Given the description of an element on the screen output the (x, y) to click on. 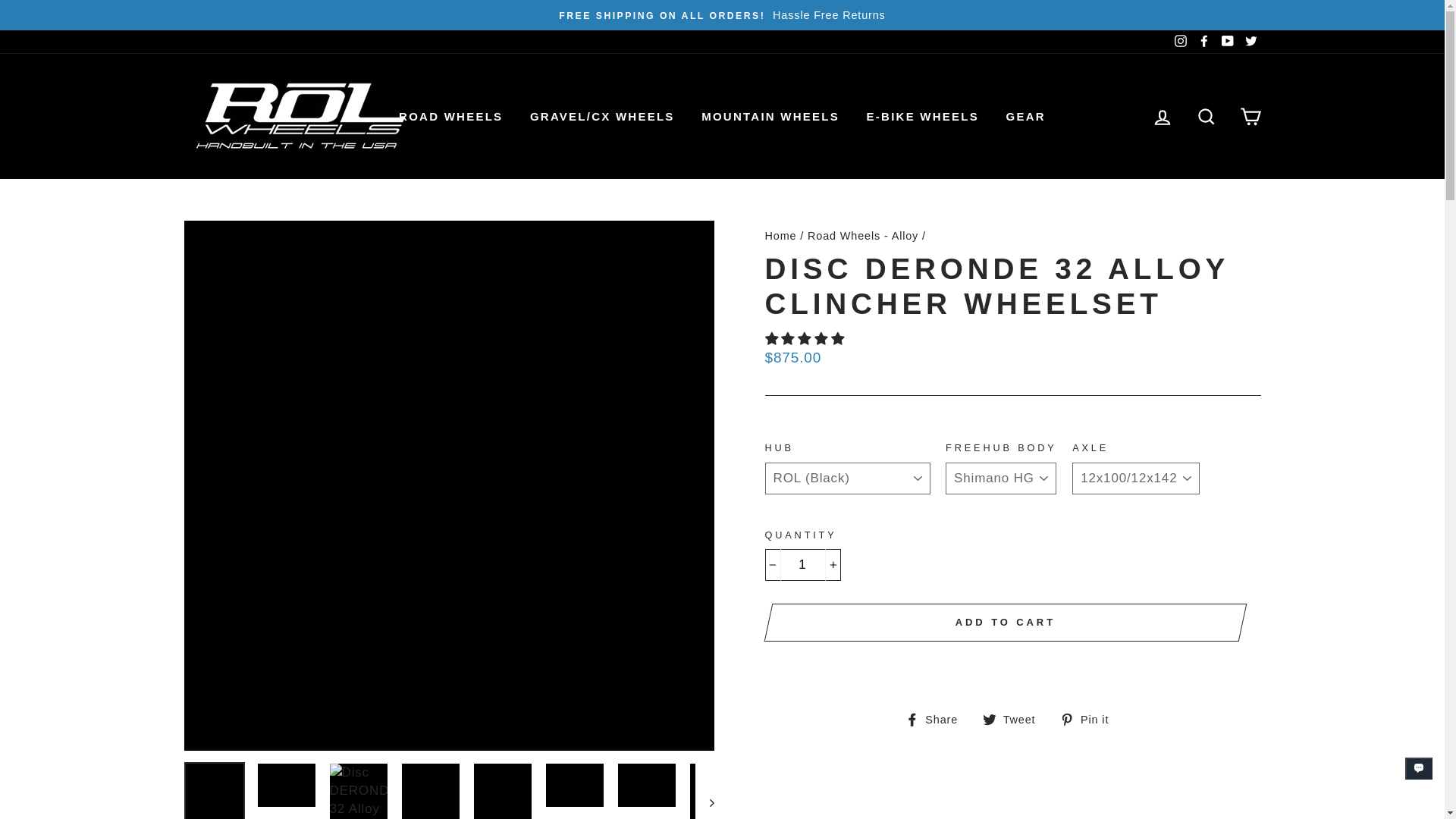
Back to the frontpage (780, 235)
Pin on Pinterest (1089, 719)
1 (802, 564)
ROAD WHEELS (450, 116)
Tweet on Twitter (1014, 719)
Share on Facebook (937, 719)
